Given the description of an element on the screen output the (x, y) to click on. 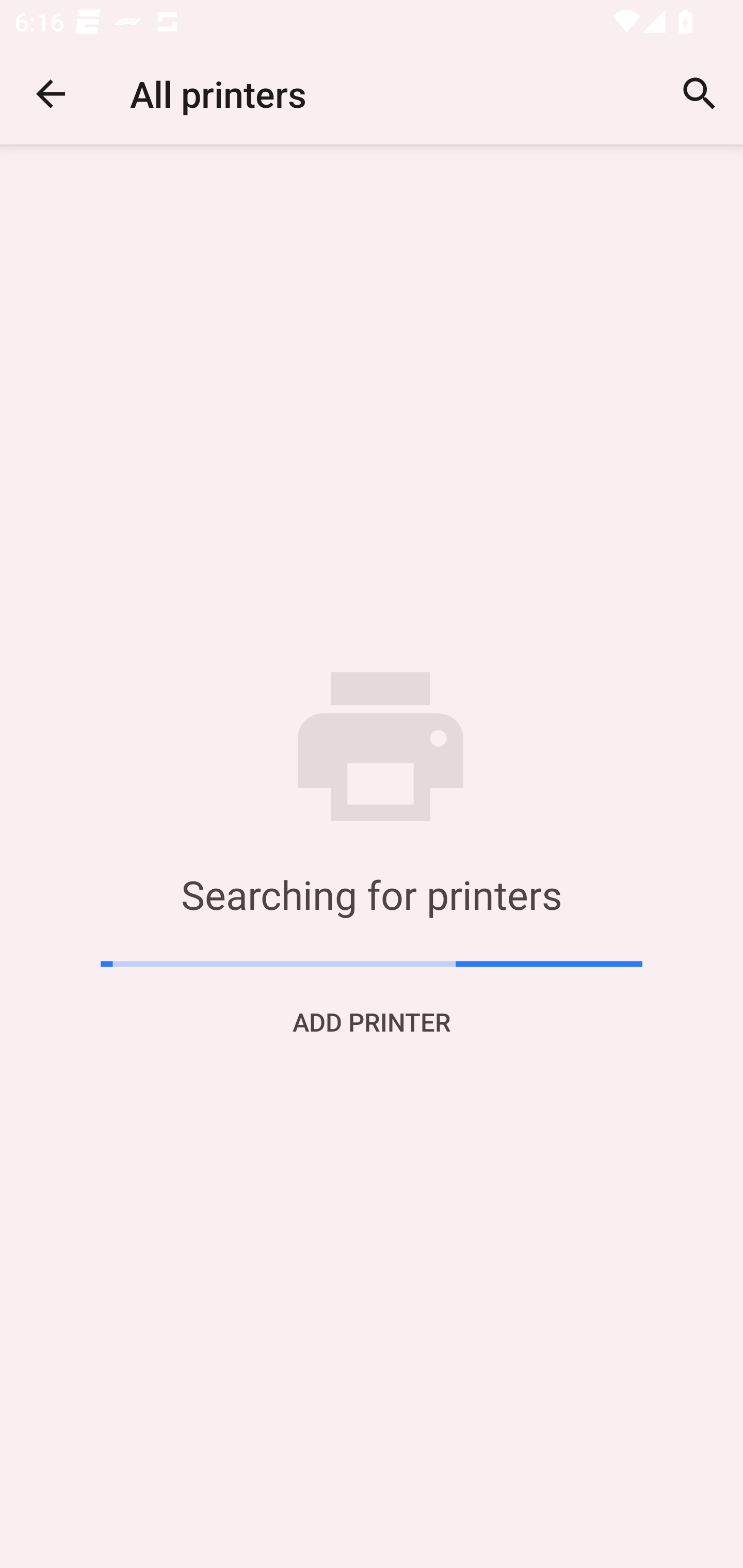
Navigate up (50, 93)
Search (699, 93)
ADD PRINTER (371, 1021)
